Given the description of an element on the screen output the (x, y) to click on. 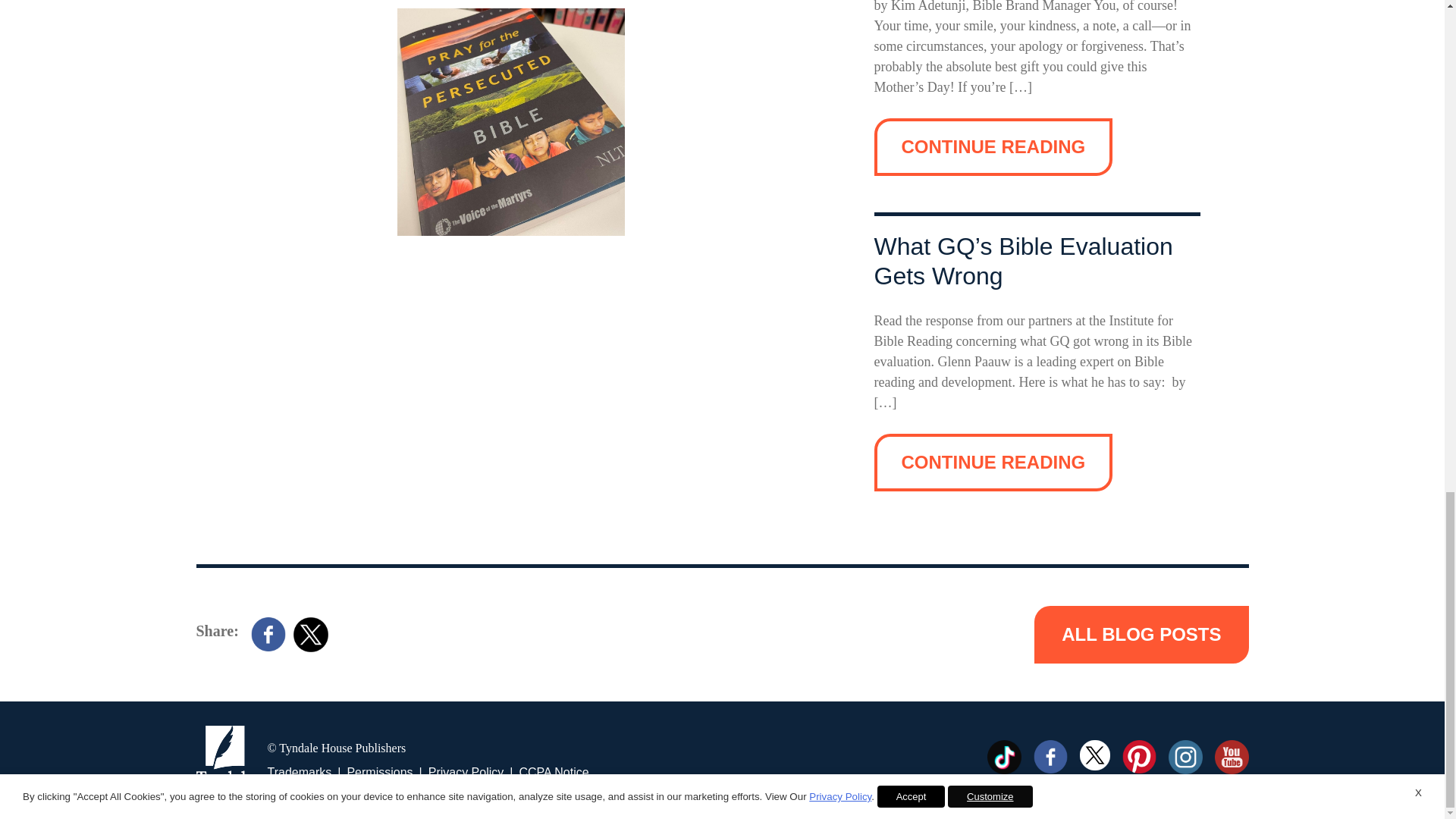
Privacy Policy (465, 771)
CCPA Notice (553, 771)
CONTINUE READING (992, 462)
ALL BLOG POSTS (1140, 634)
Permissions (379, 771)
CONTINUE READING (992, 146)
Trademarks (298, 771)
